Given the description of an element on the screen output the (x, y) to click on. 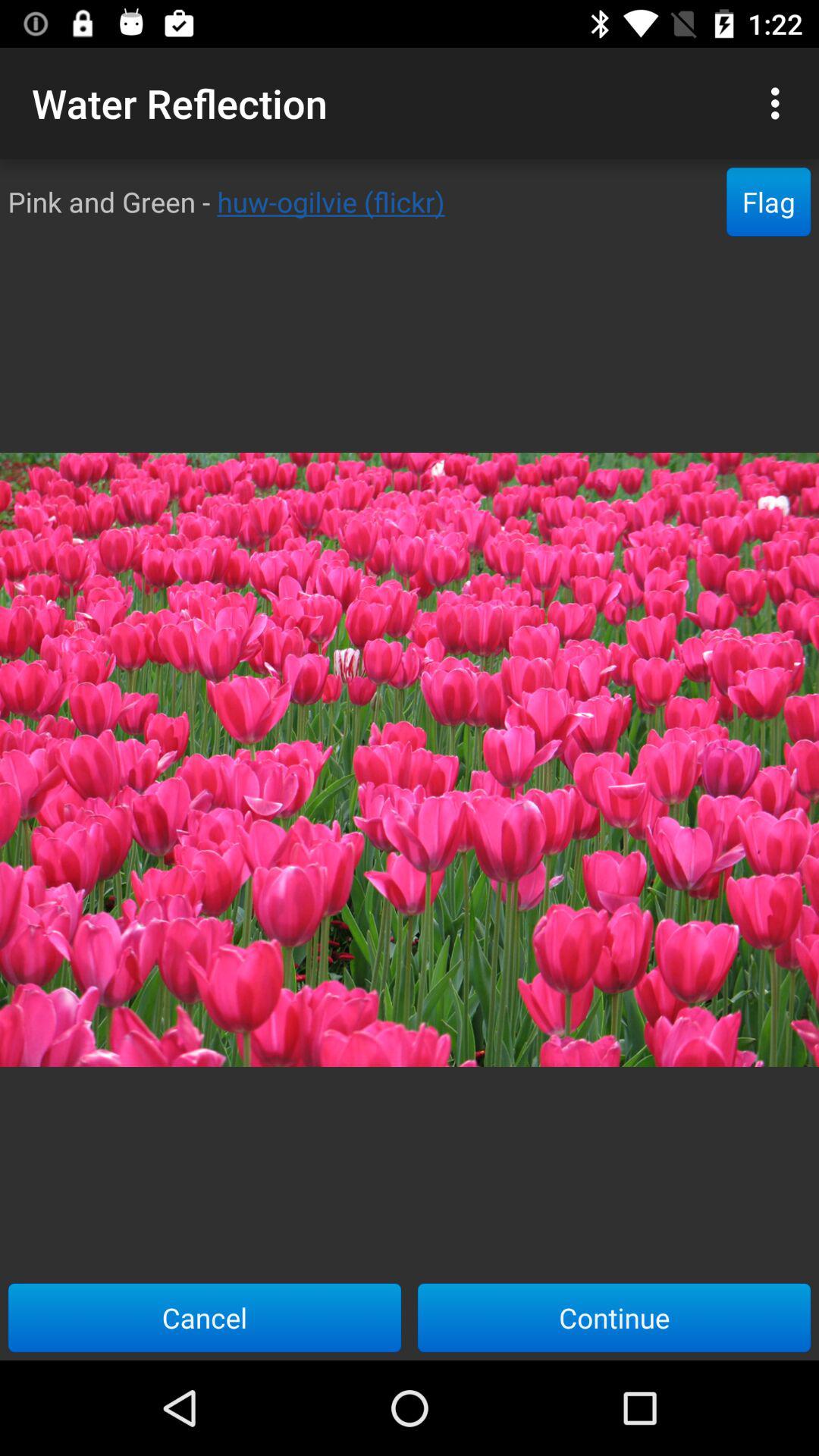
turn on the item above the flag (779, 103)
